Given the description of an element on the screen output the (x, y) to click on. 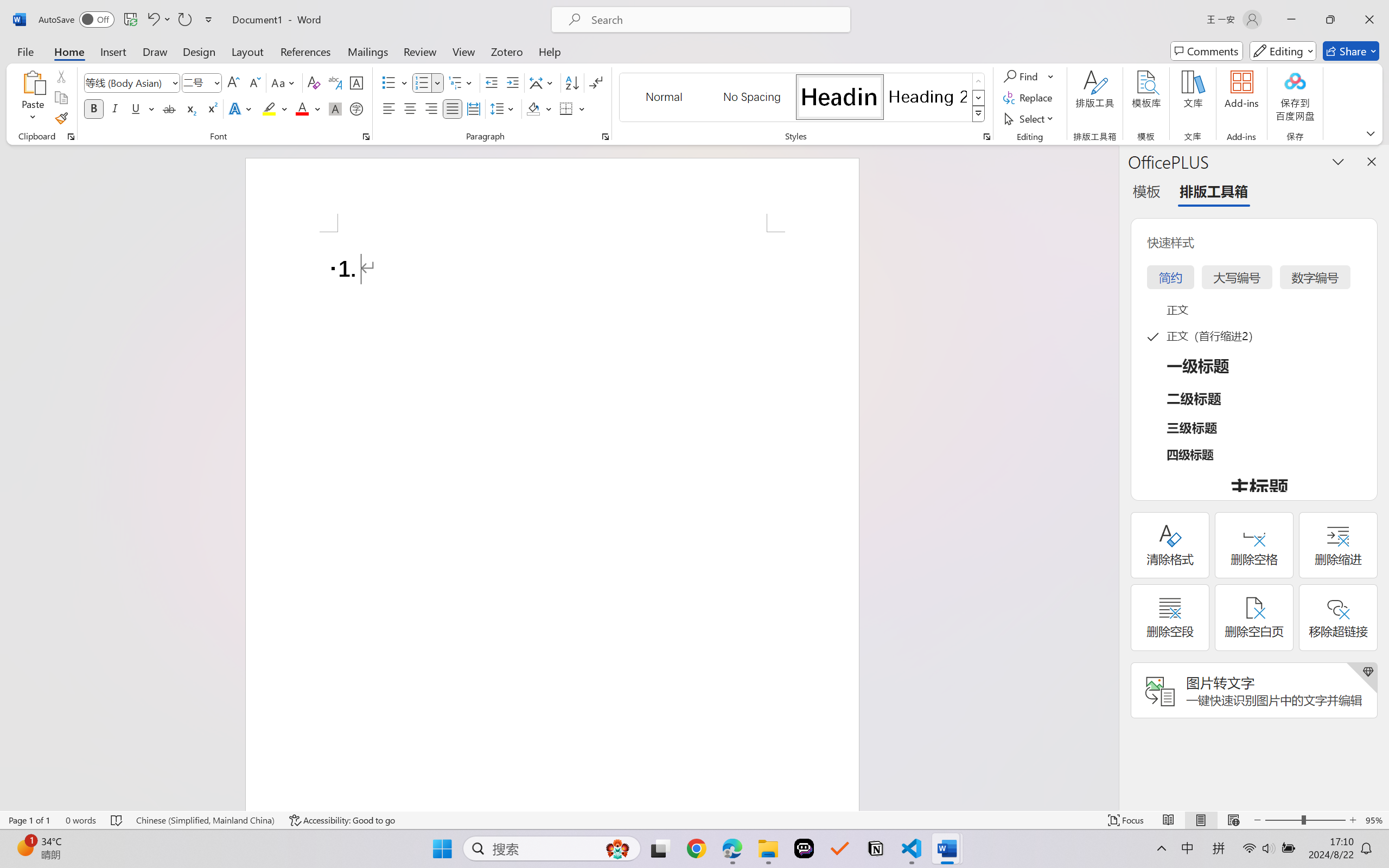
Undo Number Default (158, 19)
